Given the description of an element on the screen output the (x, y) to click on. 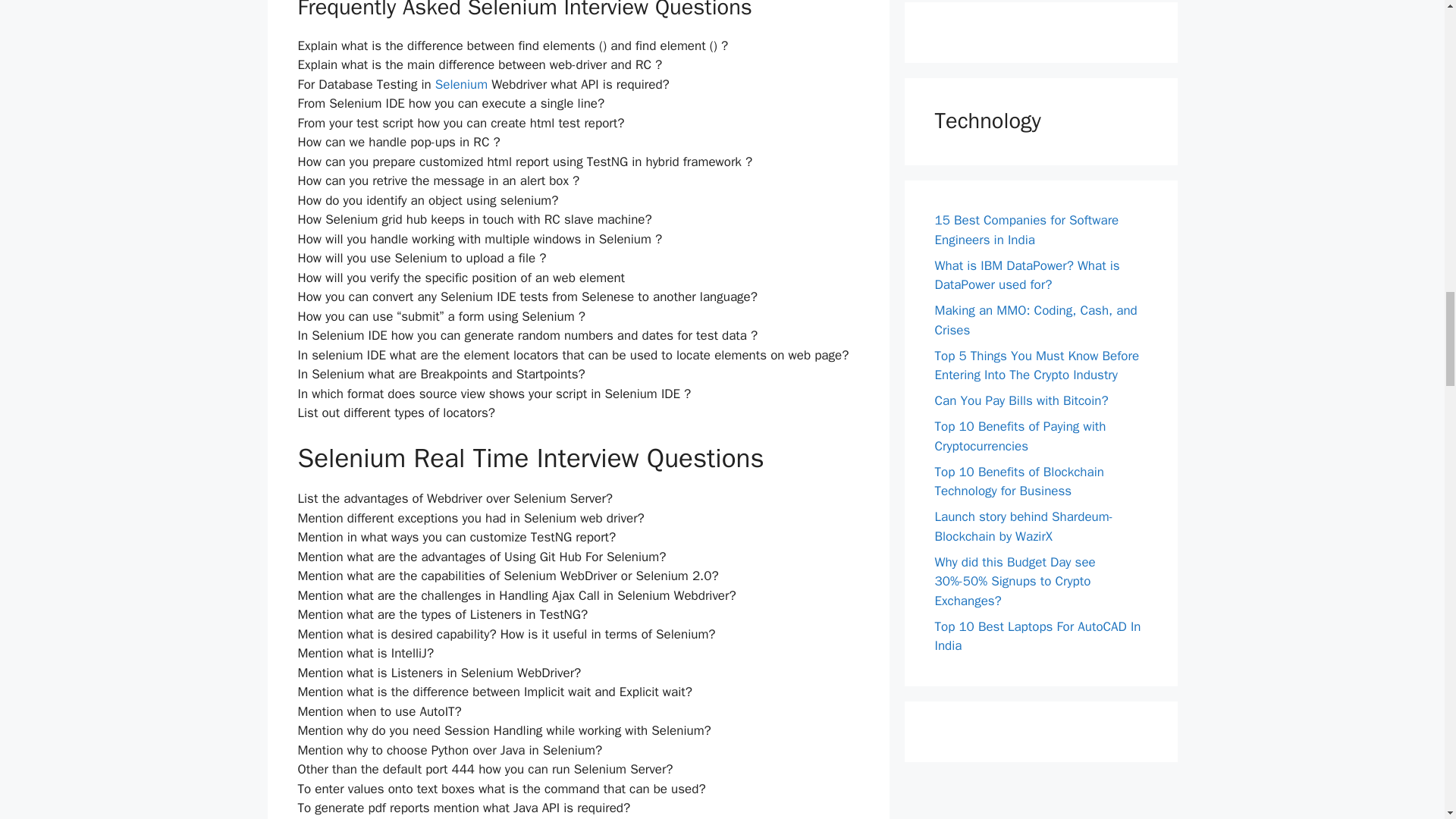
Selenium (458, 84)
